Given the description of an element on the screen output the (x, y) to click on. 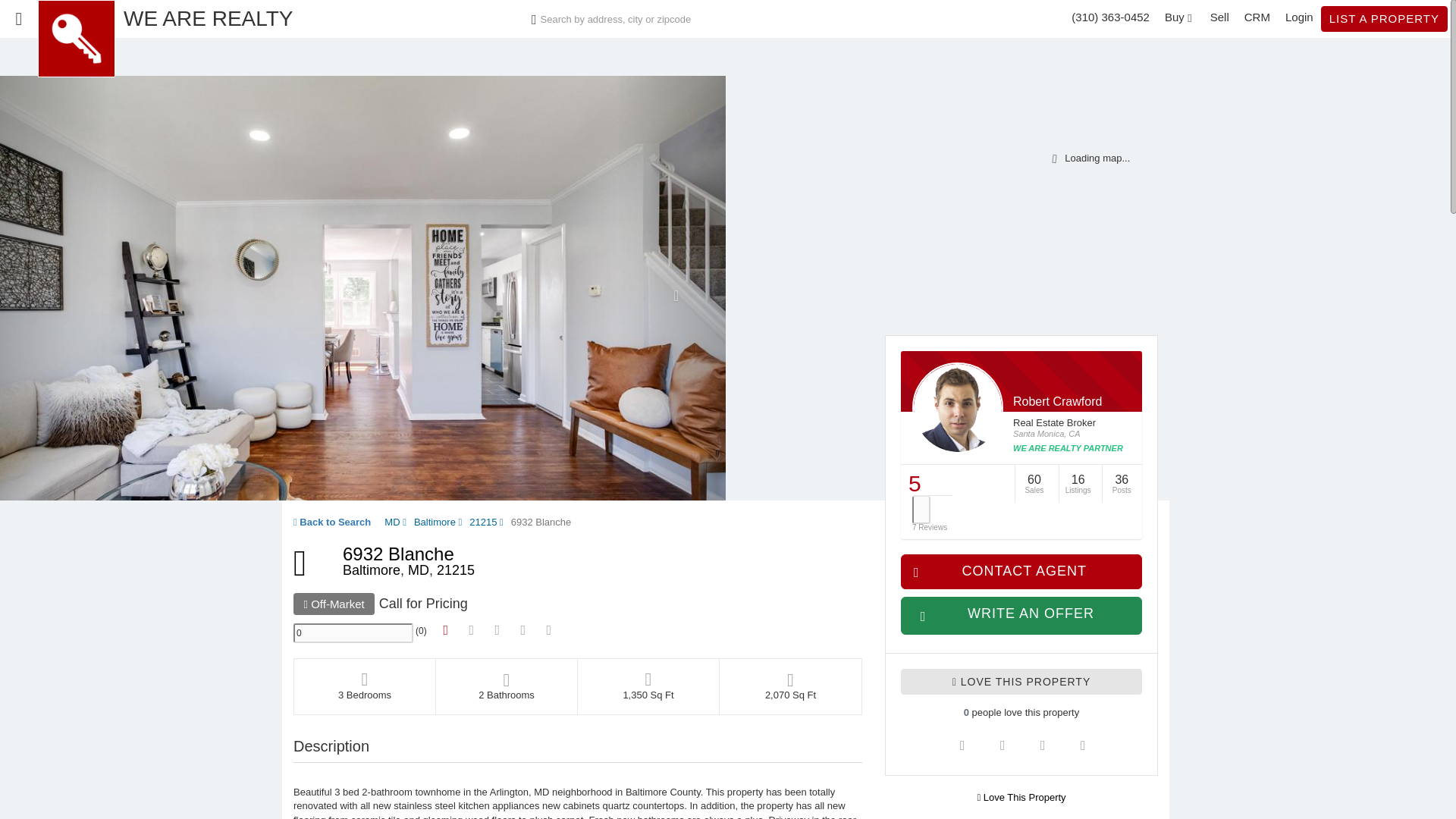
Buy (1179, 17)
0 (353, 632)
WE ARE REALTY (208, 30)
Total legal bedrooms in the property (364, 686)
Total legal bathrooms in the property (506, 686)
